Given the description of an element on the screen output the (x, y) to click on. 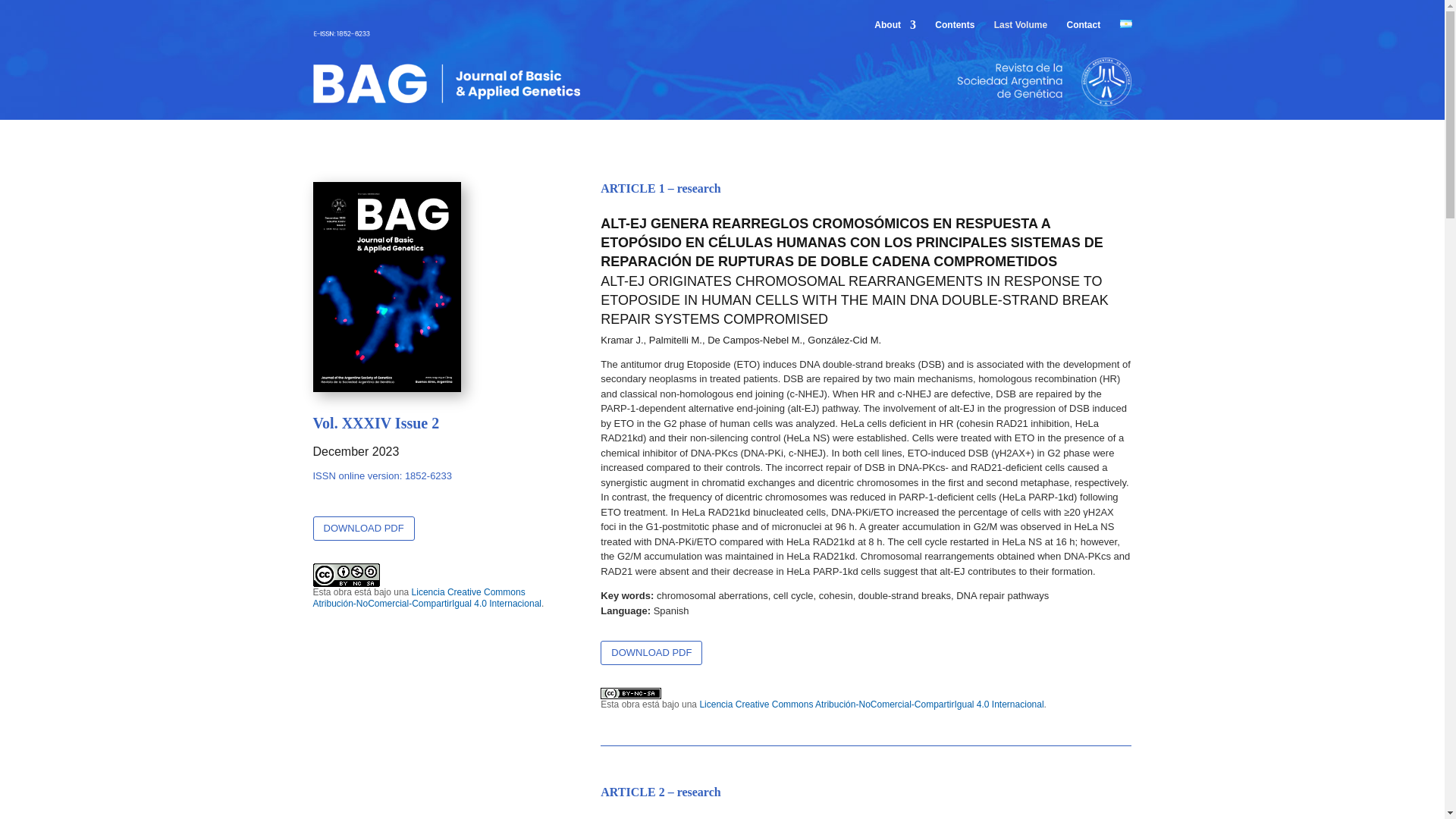
DOWNLOAD PDF (650, 652)
DOWNLOAD PDF (363, 528)
Last Volume (1020, 34)
Contact (1082, 34)
About (895, 34)
Contents (954, 34)
